Given the description of an element on the screen output the (x, y) to click on. 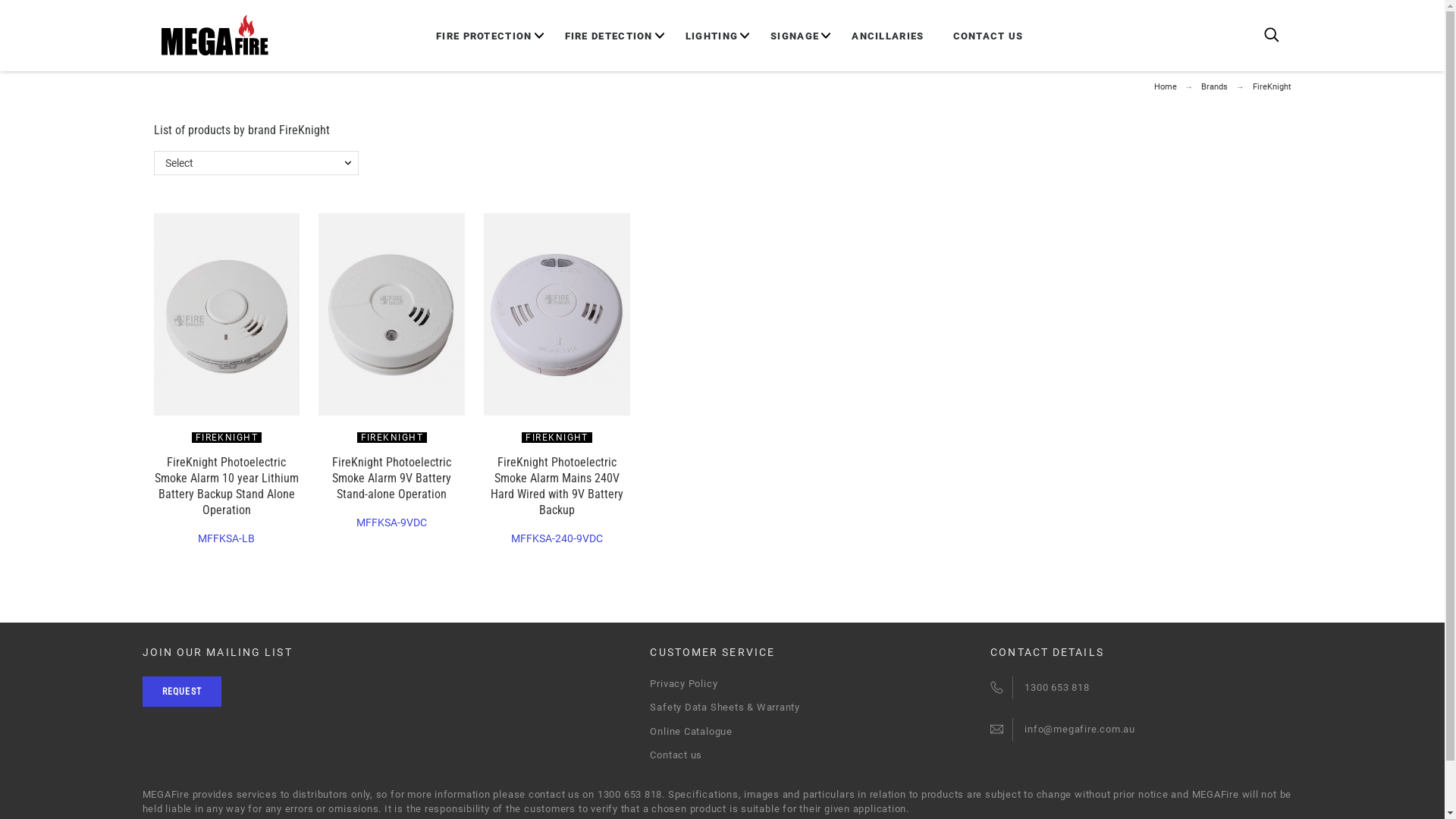
Safety Data Sheets & Warranty Element type: text (724, 706)
Contact us Element type: text (675, 754)
Home Element type: text (1165, 86)
REQUEST Element type: text (181, 691)
MEGAFire Element type: hover (213, 35)
Select Element type: text (255, 162)
ANCILLARIES Element type: text (887, 35)
LIGHTING Element type: text (711, 35)
Online Catalogue Element type: text (690, 731)
FIREKNIGHT Element type: text (391, 437)
Privacy Policy Element type: text (683, 683)
CONTACT US Element type: text (988, 35)
FIREKNIGHT Element type: text (556, 437)
info@megafire.com.au Element type: text (1079, 728)
FIRE DETECTION Element type: text (608, 35)
FIREKNIGHT Element type: text (226, 437)
FIRE PROTECTION Element type: text (491, 35)
Brands Element type: text (1214, 86)
1300 653 818 Element type: text (1056, 687)
SIGNAGE Element type: text (794, 35)
